Given the description of an element on the screen output the (x, y) to click on. 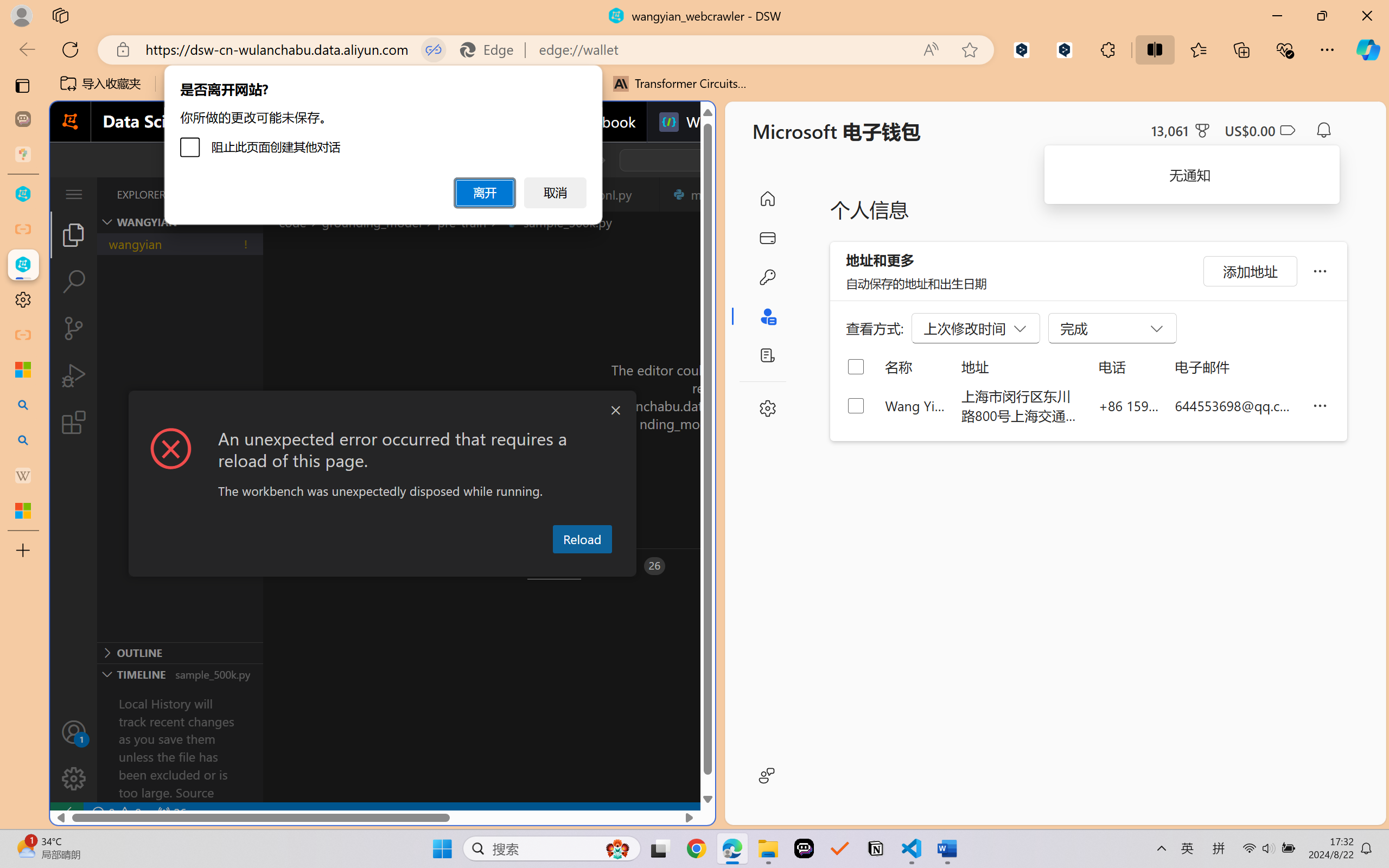
Application Menu (73, 194)
Wang Yian (914, 405)
Search (Ctrl+Shift+F) (73, 281)
Reload (581, 538)
